Given the description of an element on the screen output the (x, y) to click on. 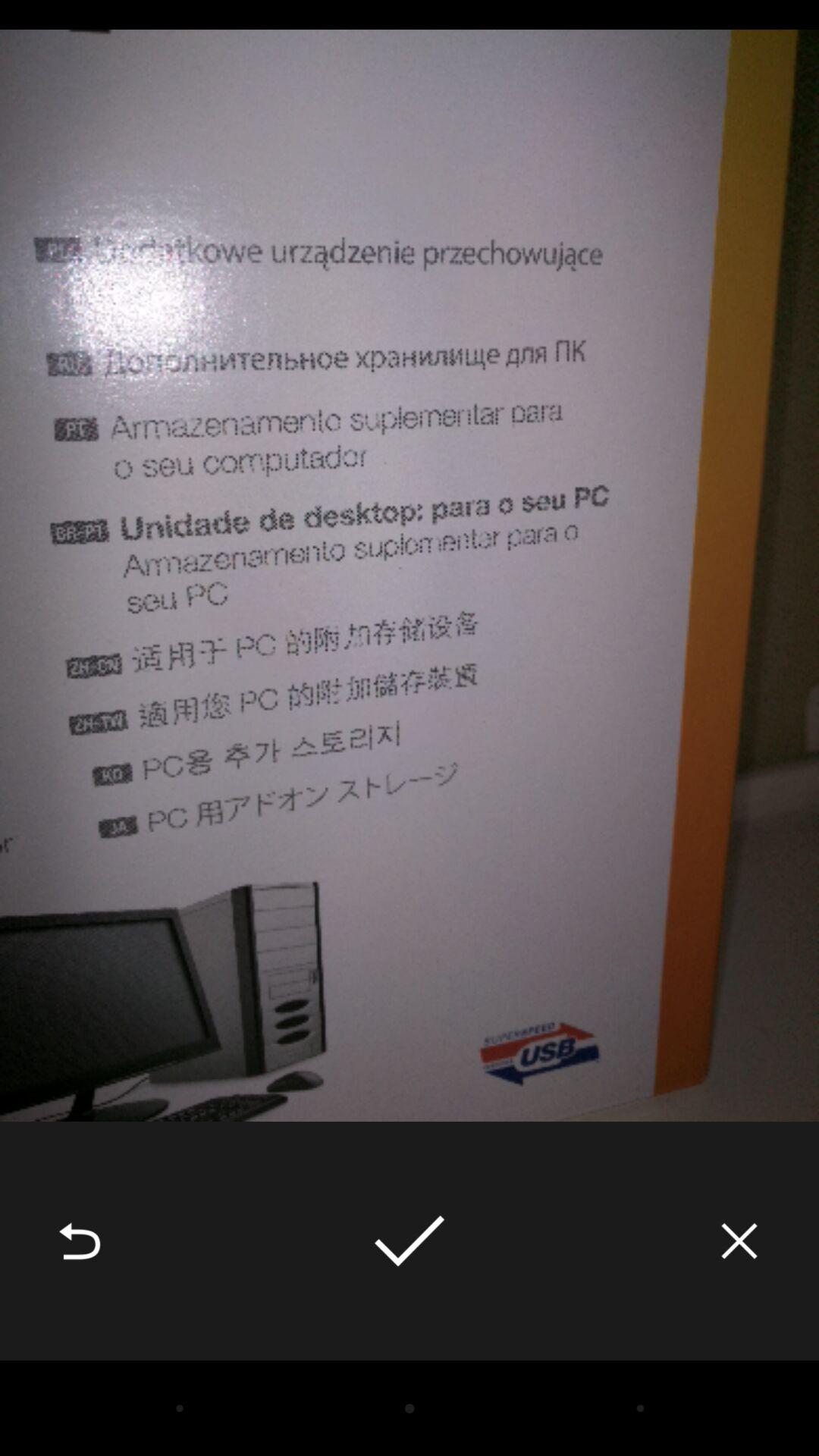
launch the item at the bottom right corner (739, 1240)
